Given the description of an element on the screen output the (x, y) to click on. 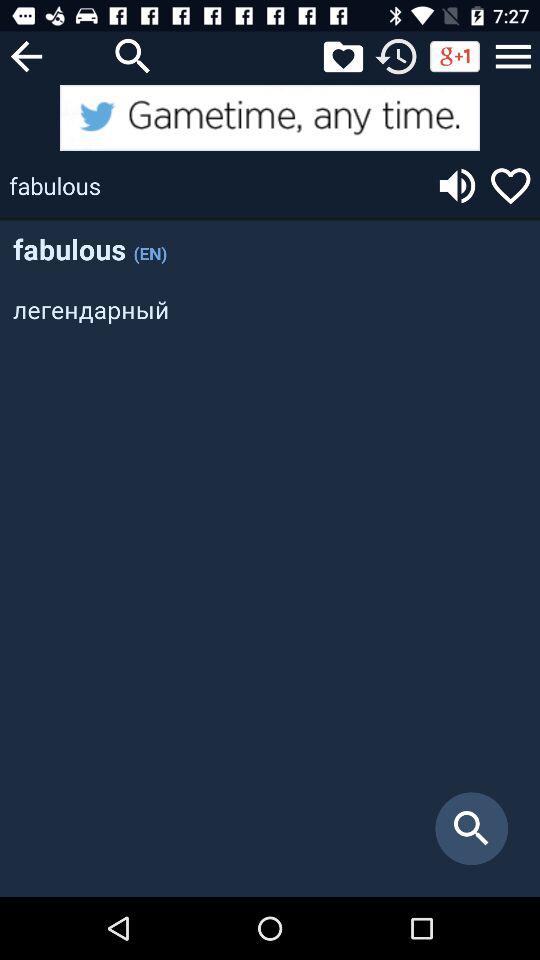
refresh page (396, 56)
